Given the description of an element on the screen output the (x, y) to click on. 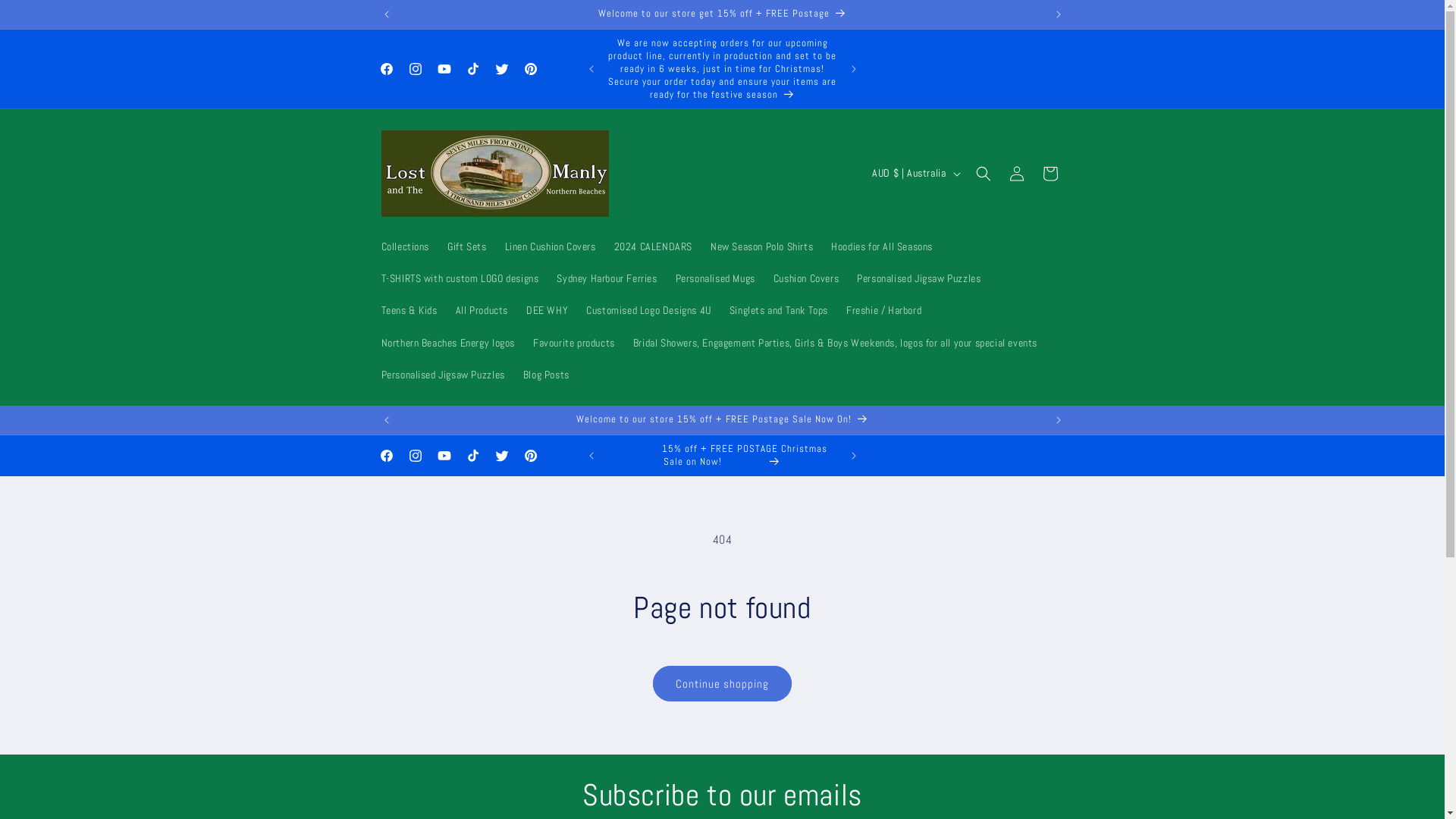
Hoodies for All Seasons Element type: text (881, 246)
Log in Element type: text (1015, 173)
YouTube Element type: text (443, 455)
Blog Posts Element type: text (546, 374)
2024 CALENDARS Element type: text (653, 246)
Cart Element type: text (1049, 173)
T-SHIRTS with custom LOGO designs Element type: text (459, 278)
Pinterest Element type: text (529, 68)
Facebook Element type: text (385, 455)
TikTok Element type: text (472, 68)
Twitter Element type: text (500, 68)
Personalised Jigsaw Puzzles Element type: text (918, 278)
Cushion Covers Element type: text (805, 278)
Sydney Harbour Ferries Element type: text (606, 278)
Instagram Element type: text (414, 455)
Personalised Mugs Element type: text (715, 278)
Gift Sets Element type: text (466, 246)
Favourite products Element type: text (574, 342)
Pinterest Element type: text (529, 455)
Instagram Element type: text (414, 68)
Northern Beaches Energy logos Element type: text (447, 342)
Continue shopping Element type: text (721, 683)
New Season Polo Shirts Element type: text (761, 246)
Twitter Element type: text (500, 455)
Personalised Jigsaw Puzzles Element type: text (442, 374)
AUD $ | Australia Element type: text (914, 173)
DEE WHY Element type: text (547, 310)
Freshie / Harbord Element type: text (883, 310)
Teens & Kids Element type: text (408, 310)
Collections Element type: text (404, 246)
YouTube Element type: text (443, 68)
Welcome to our store get 15% off + FREE Postage Element type: text (722, 14)
Singlets and Tank Tops Element type: text (778, 310)
TikTok Element type: text (472, 455)
All Products Element type: text (481, 310)
Welcome to our store 15% off + FREE Postage Sale Now On! Element type: text (722, 419)
15% off + FREE Postage NOW Element type: text (722, 68)
Linen Cushion Covers Element type: text (550, 246)
Customised Logo Designs 4U Element type: text (648, 310)
Facebook Element type: text (385, 68)
